Given the description of an element on the screen output the (x, y) to click on. 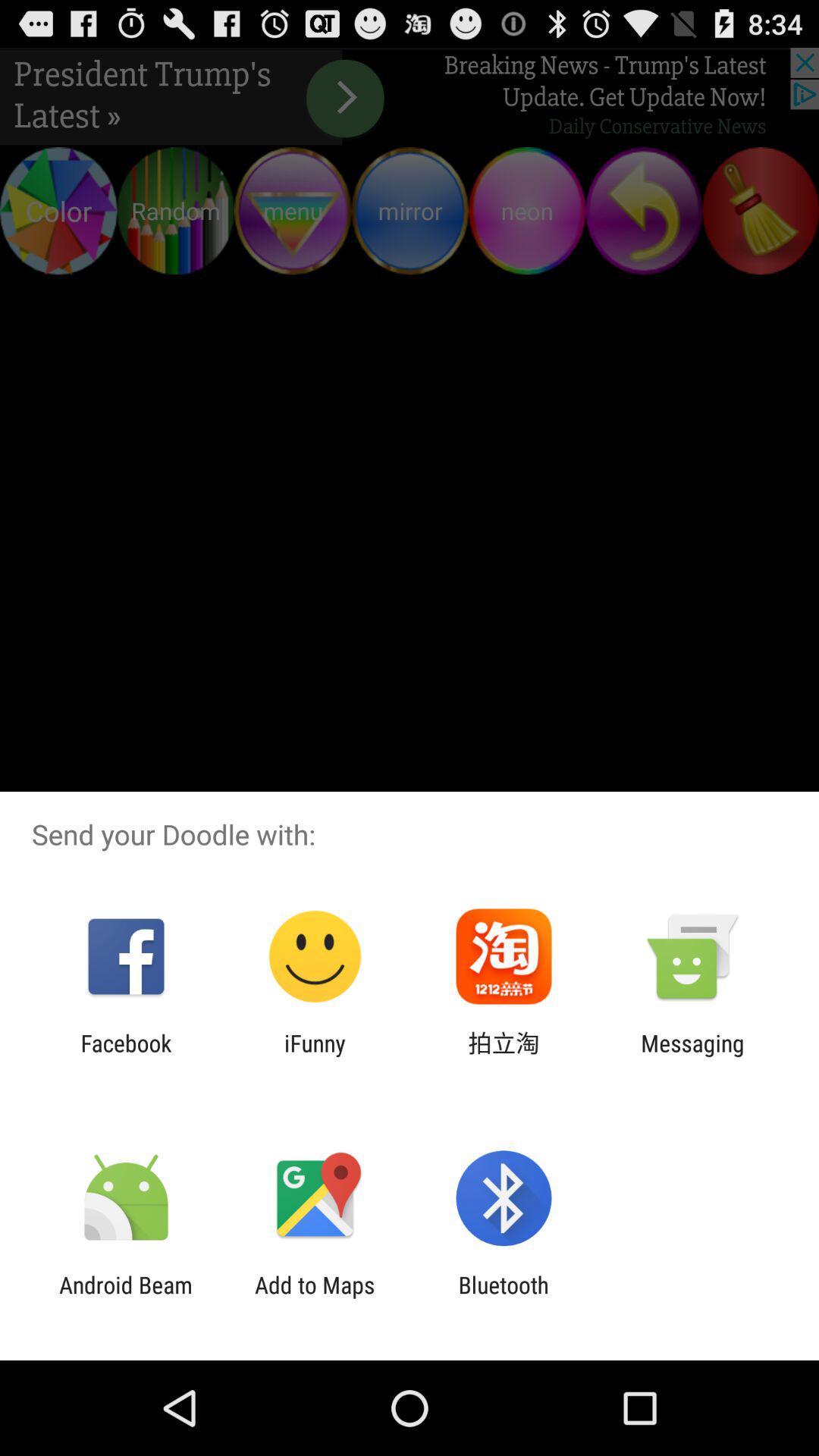
click icon next to messaging icon (503, 1056)
